Given the description of an element on the screen output the (x, y) to click on. 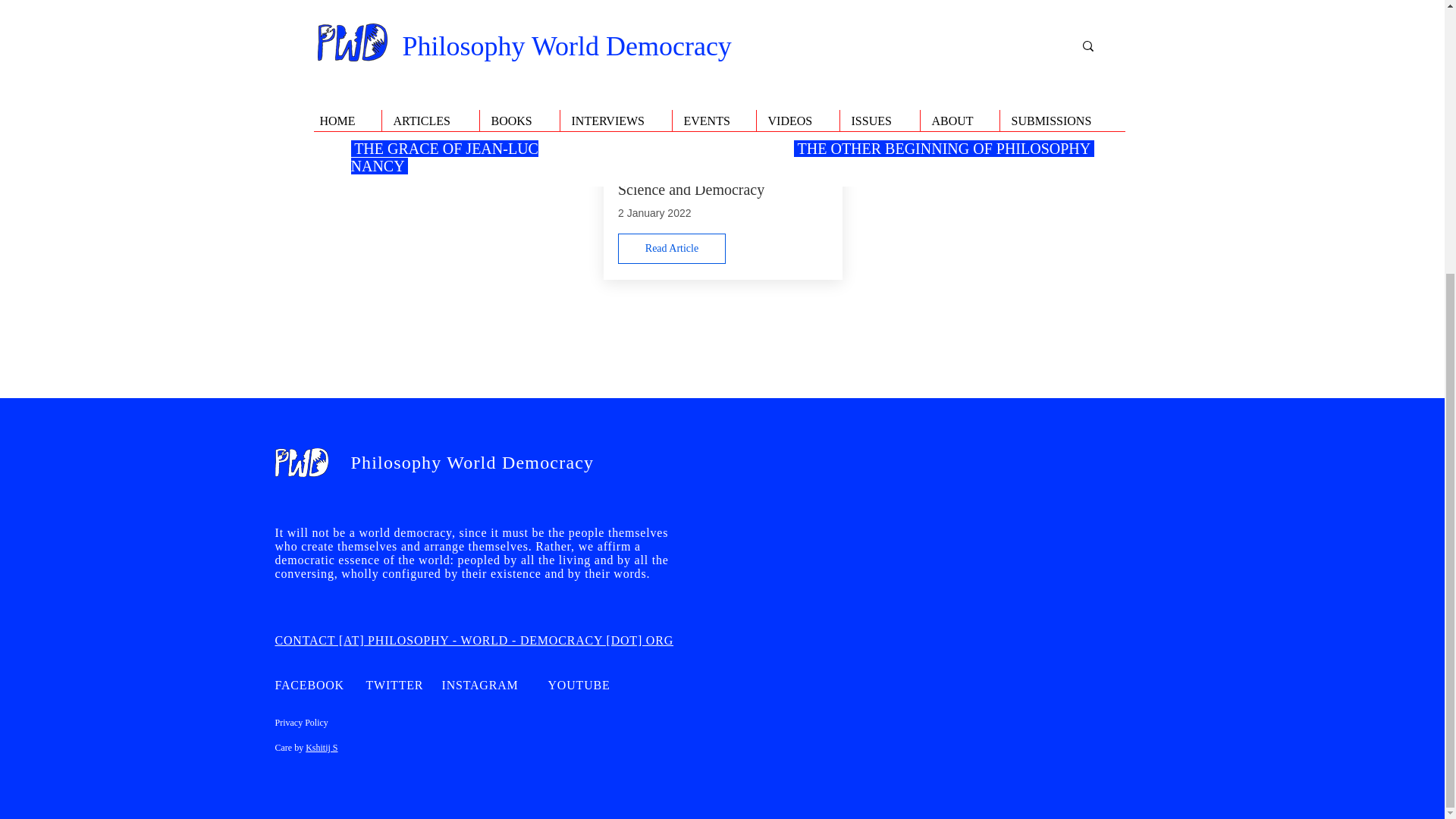
Kshitij S (321, 747)
YOUTUBE (578, 684)
TWITTER (394, 684)
INSTAGRAM (479, 684)
Privacy Policy (301, 722)
FACEBOOK (309, 684)
Read Article (671, 248)
